Given the description of an element on the screen output the (x, y) to click on. 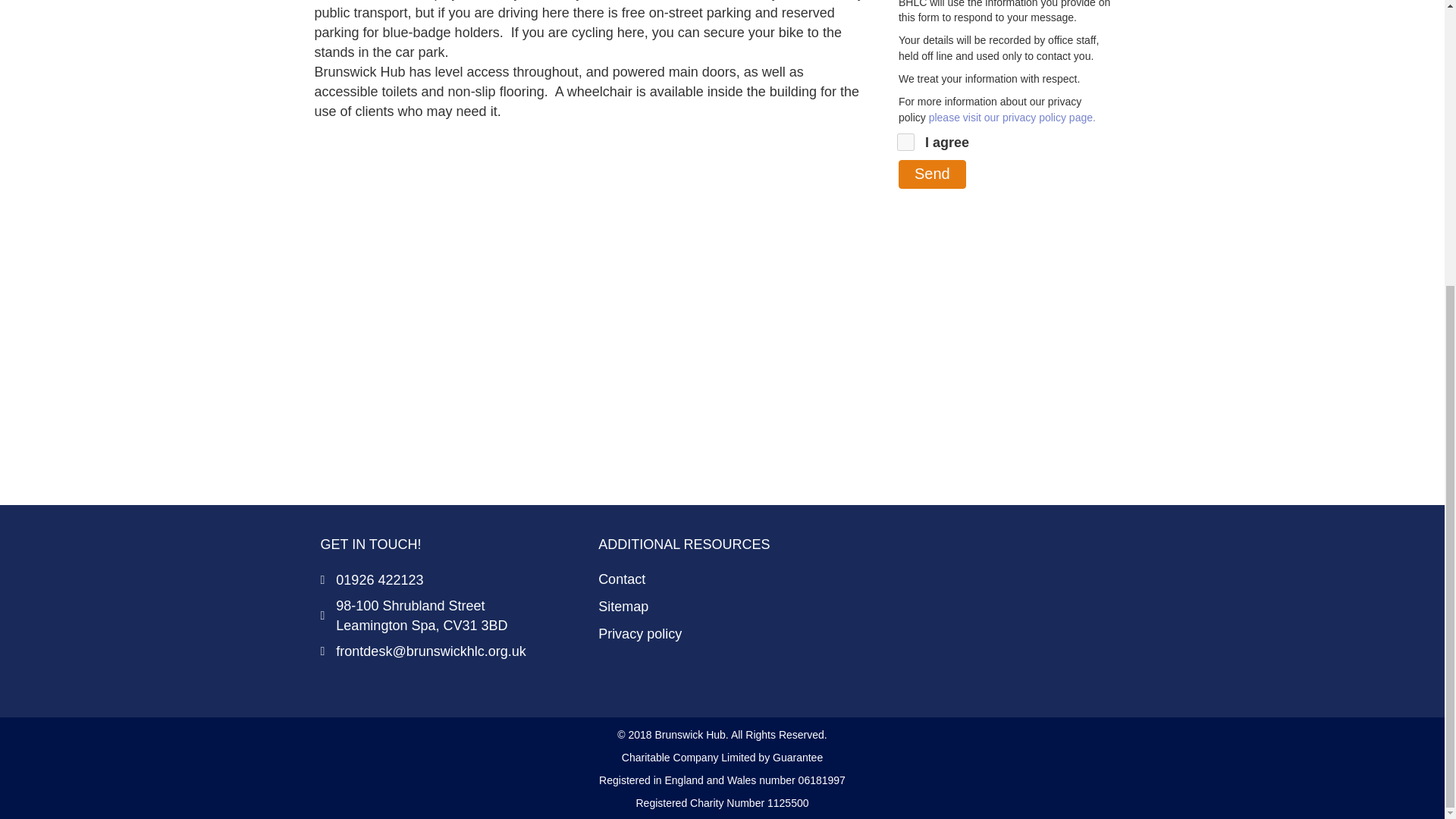
1 (905, 141)
